Given the description of an element on the screen output the (x, y) to click on. 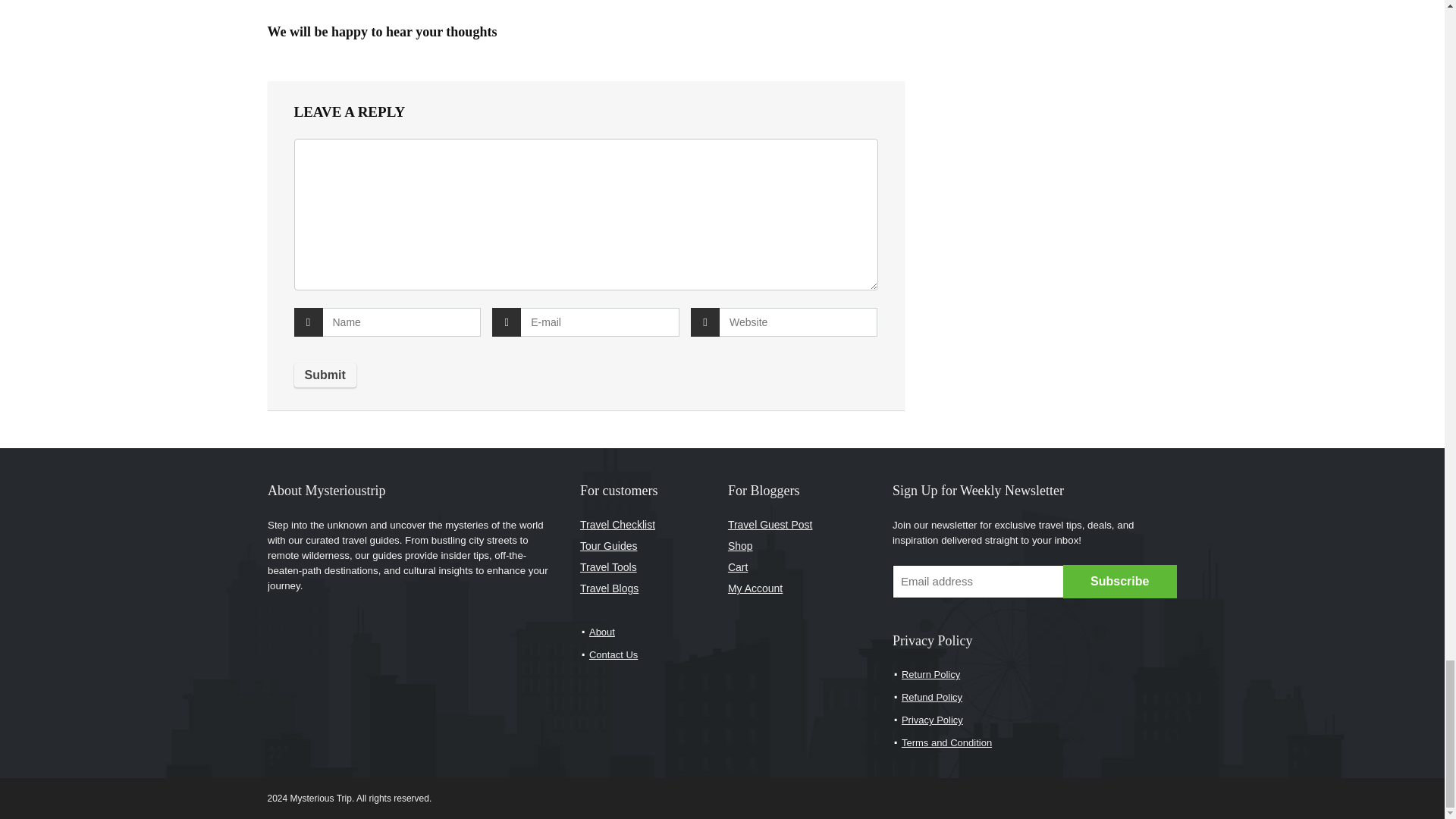
Subscribe (1119, 581)
Submit (325, 375)
